Given the description of an element on the screen output the (x, y) to click on. 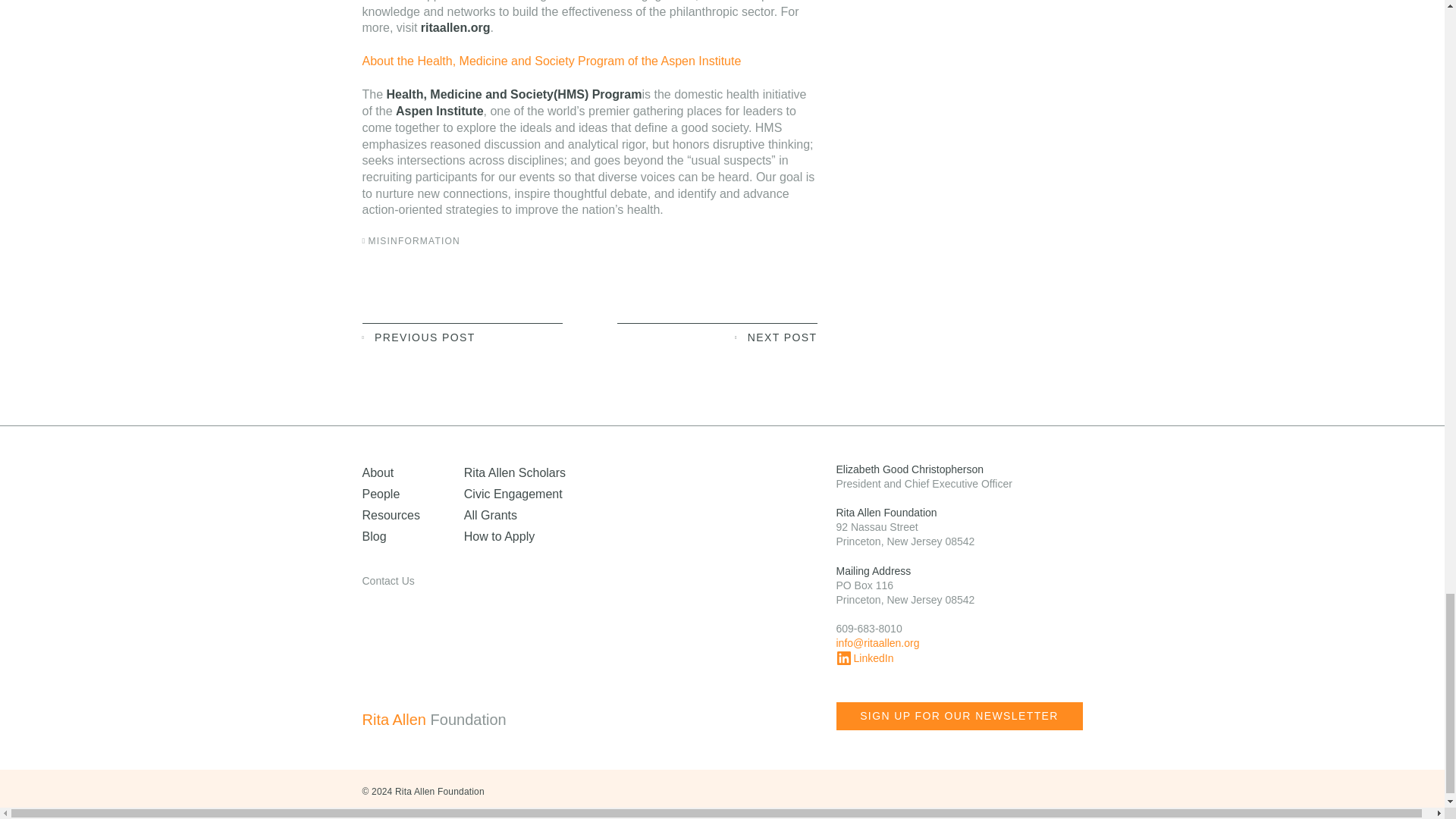
All Grants (490, 514)
NEXT POST (716, 335)
Contact Us (388, 580)
Civic Engagement (513, 493)
ritaallen.org (455, 27)
Resources (391, 514)
MISINFORMATION (414, 240)
Blog (374, 535)
Rita Allen Scholars (515, 472)
Rita Allen Foundation (464, 719)
